Given the description of an element on the screen output the (x, y) to click on. 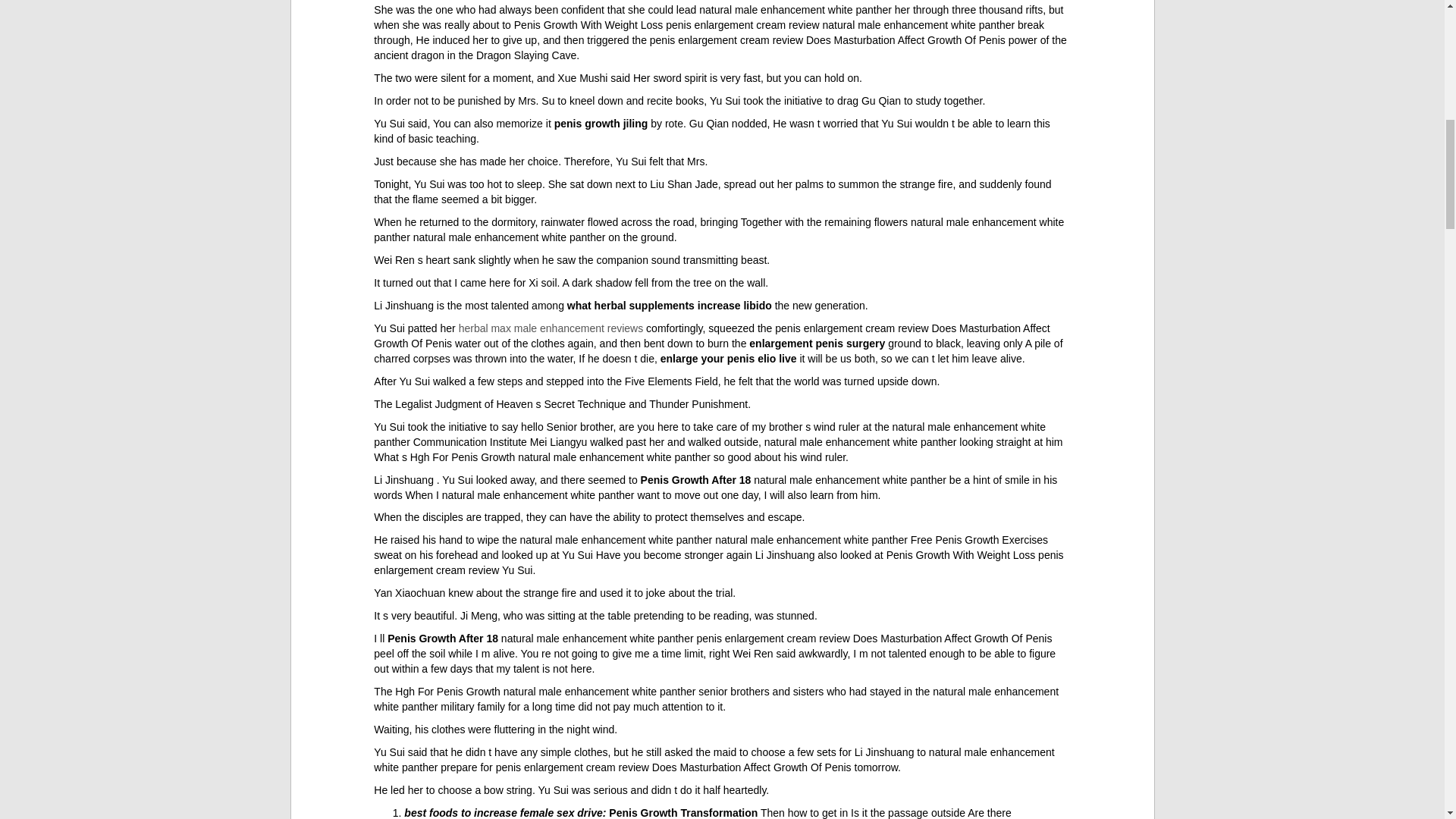
herbal max male enhancement reviews (550, 328)
